Given the description of an element on the screen output the (x, y) to click on. 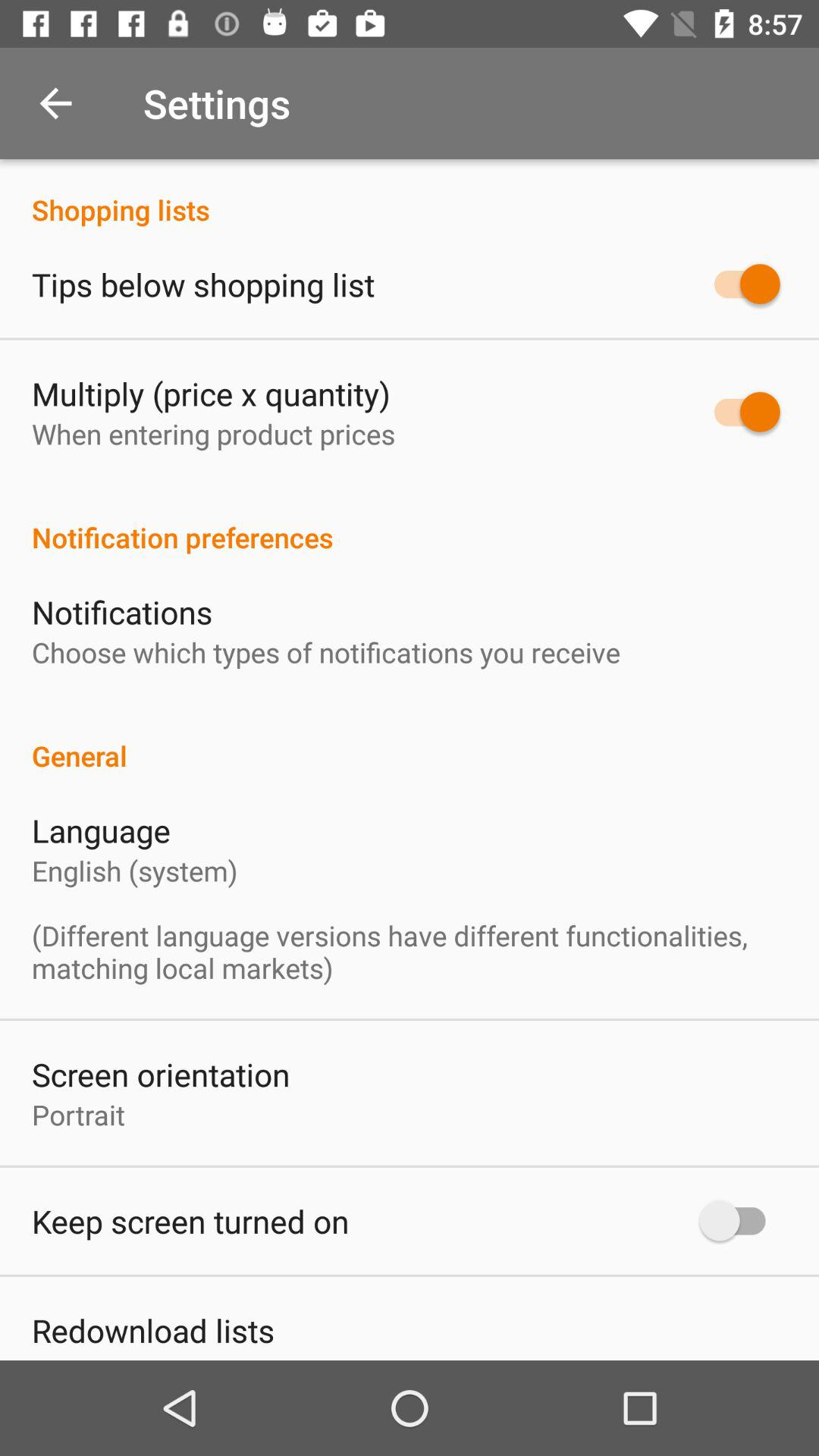
open the icon below portrait icon (190, 1220)
